Given the description of an element on the screen output the (x, y) to click on. 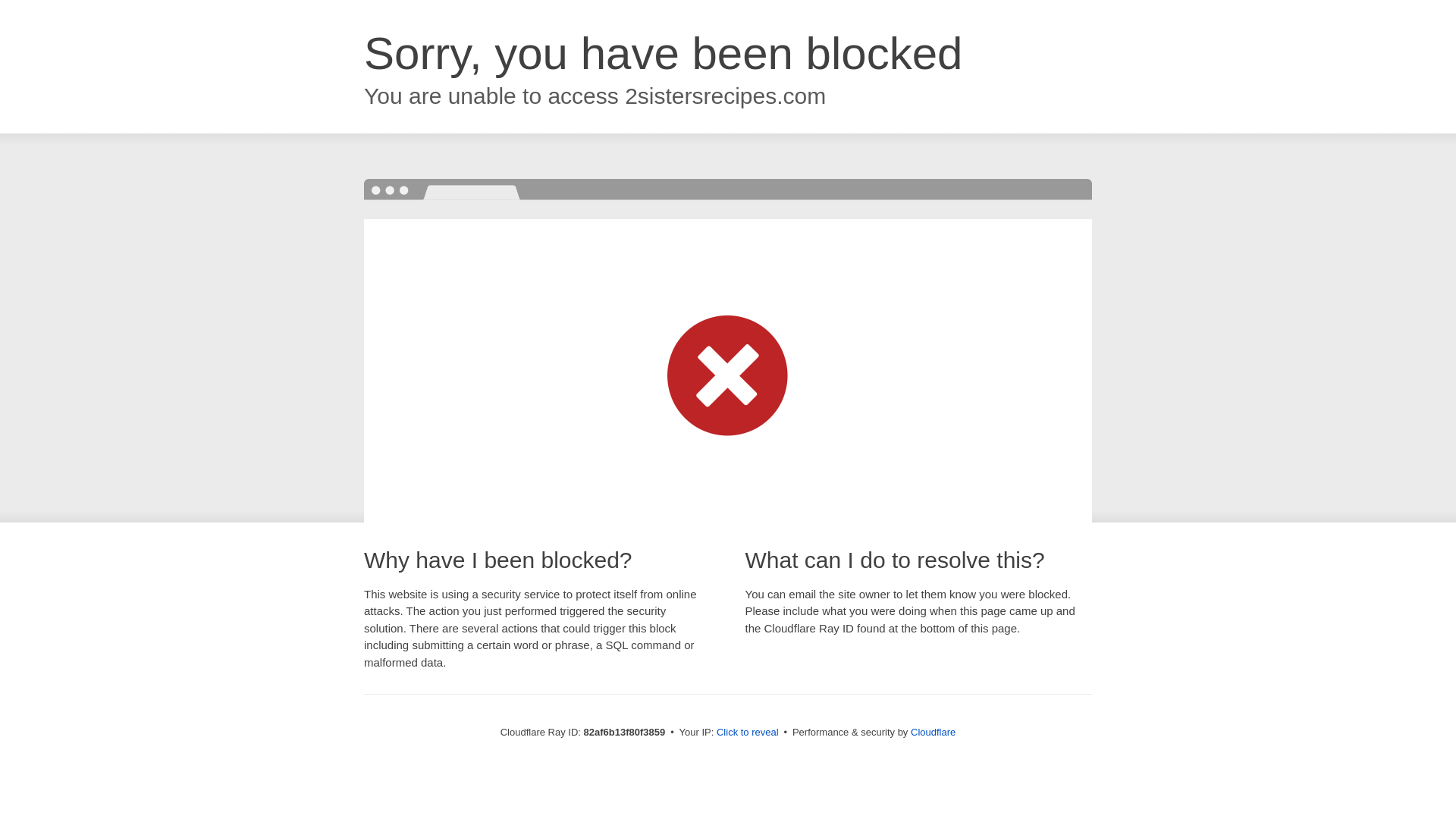
Click to reveal Element type: text (747, 732)
Cloudflare Element type: text (932, 731)
